Given the description of an element on the screen output the (x, y) to click on. 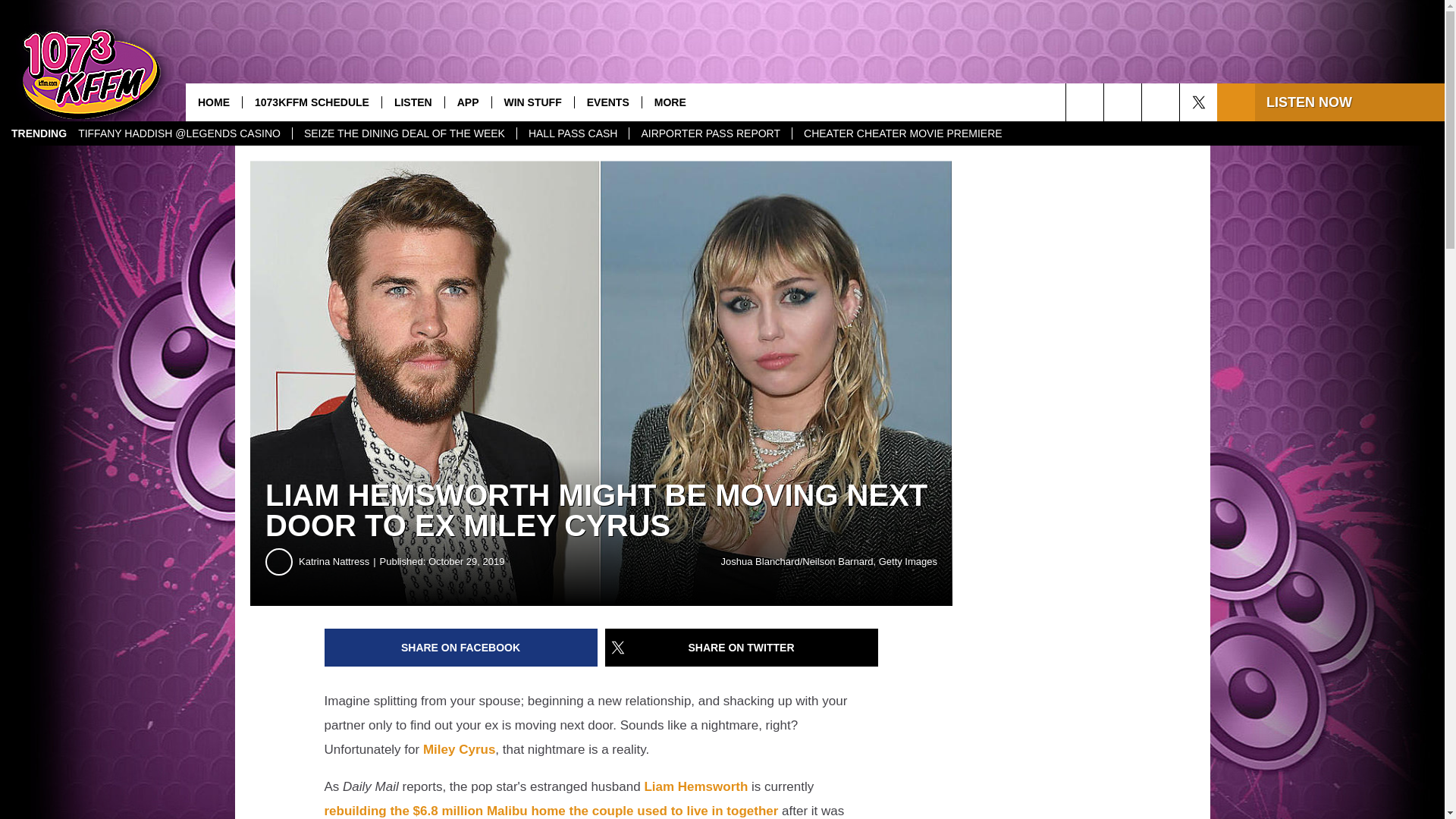
LISTEN (412, 102)
WIN STUFF (532, 102)
APP (468, 102)
MORE (670, 102)
Share on Facebook (460, 647)
1073KFFM SCHEDULE (311, 102)
HALL PASS CASH (572, 133)
EVENTS (607, 102)
HOME (213, 102)
SEIZE THE DINING DEAL OF THE WEEK (404, 133)
